Given the description of an element on the screen output the (x, y) to click on. 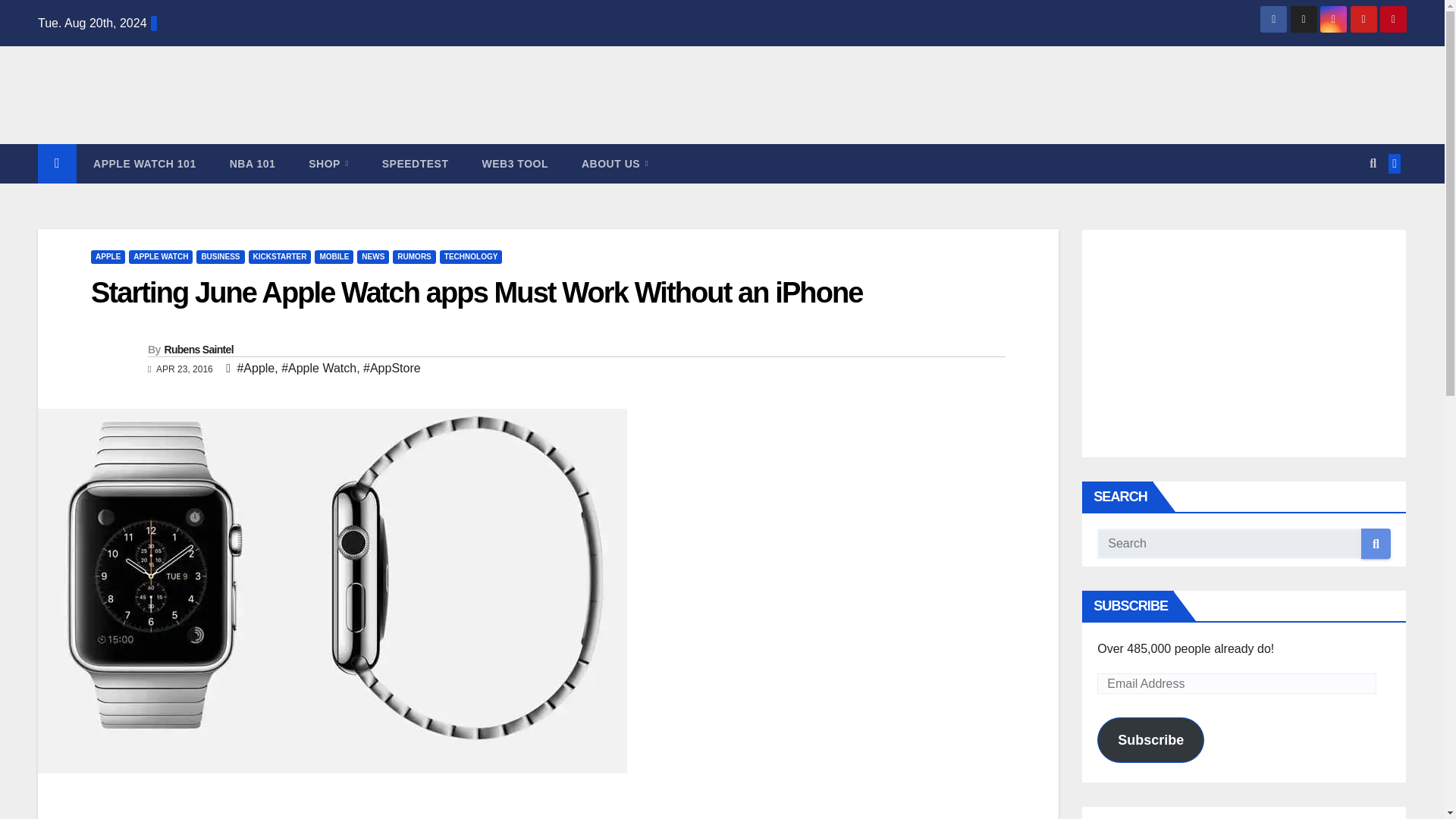
SPEEDTEST (415, 163)
BUSINESS (220, 256)
Shop (328, 163)
NBA 101 (252, 163)
APPLE WATCH 101 (144, 163)
KICKSTARTER (279, 256)
About Us (614, 163)
Apple Watch 101 (144, 163)
Speedtest (415, 163)
WEB3 TOOL (514, 163)
